Given the description of an element on the screen output the (x, y) to click on. 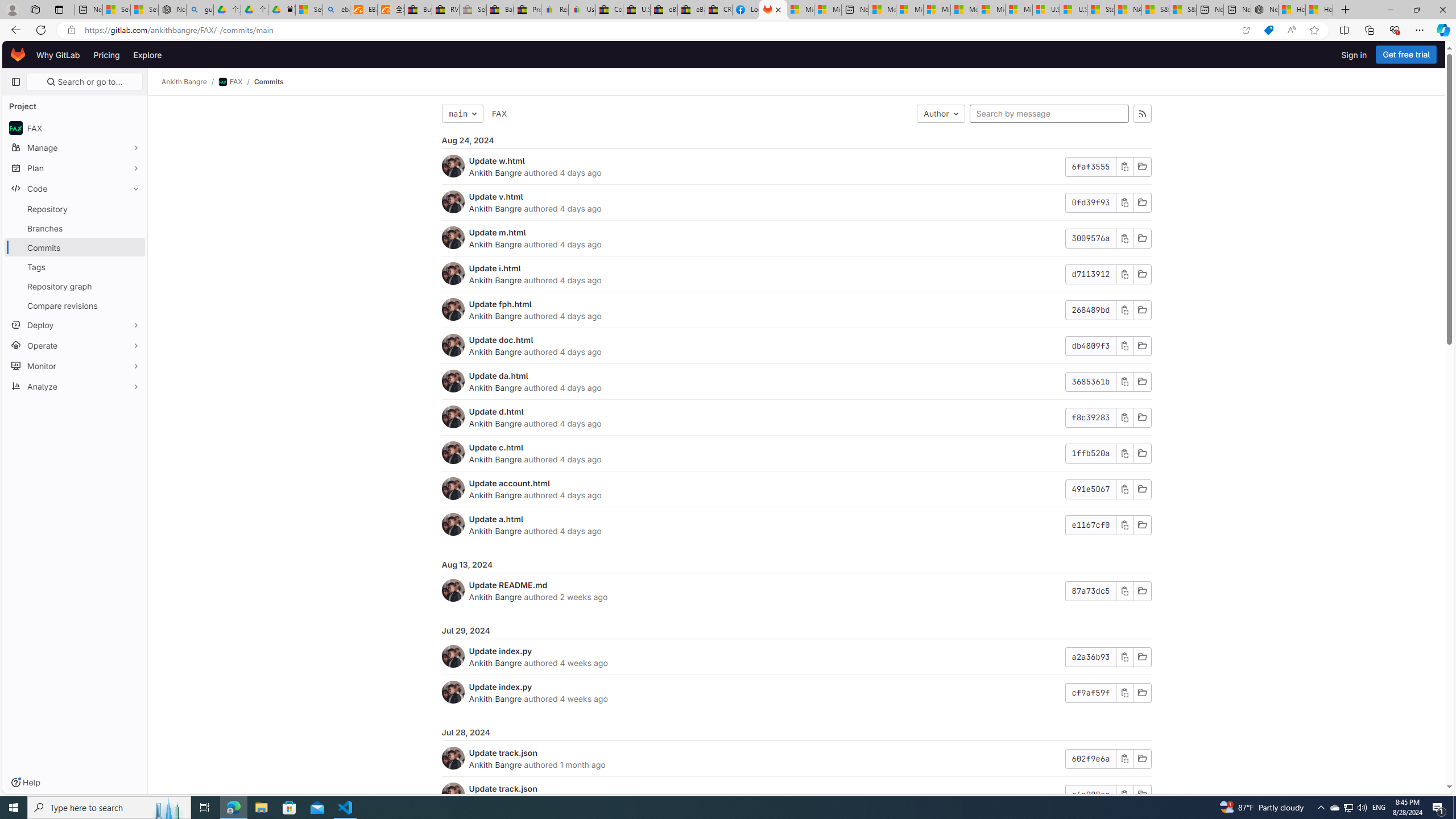
Microsoft account | Home (936, 9)
Branches (74, 227)
Update track.jsonAnkith Bangre authored 1 month ago602f9e6a (796, 759)
Branches (74, 227)
Buy Auto Parts & Accessories | eBay (418, 9)
Author (941, 113)
Update i.html (494, 267)
Register: Create a personal eBay account (554, 9)
Open in app (1245, 29)
Deploy (74, 324)
U.S. State Privacy Disclosures - eBay Inc. (636, 9)
avatar (15, 128)
